Given the description of an element on the screen output the (x, y) to click on. 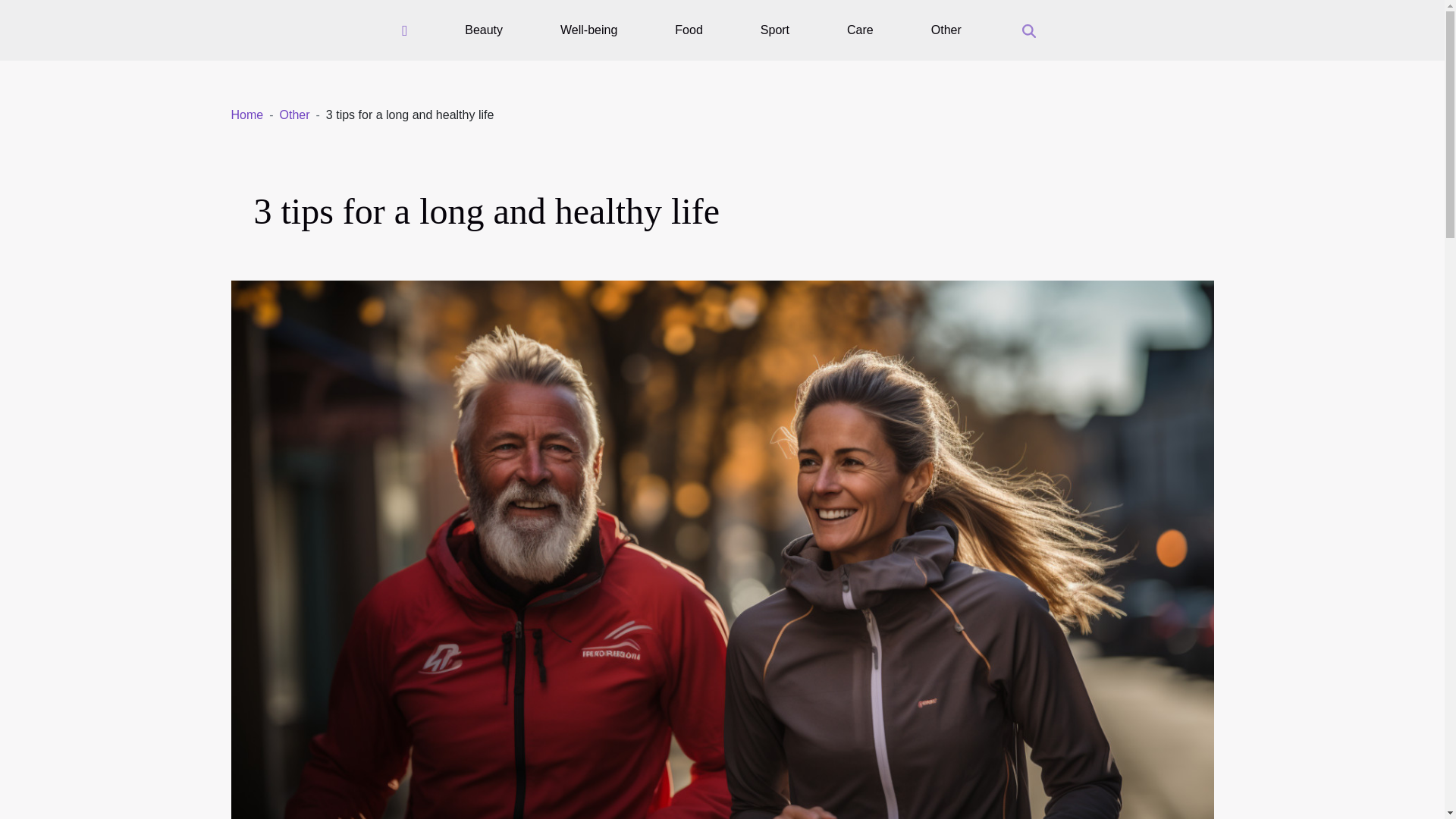
Home (246, 114)
Food (687, 30)
Beauty (483, 30)
Care (860, 30)
Well-being (588, 30)
Other (294, 114)
Sport (774, 30)
Other (294, 114)
Other (946, 30)
